Given the description of an element on the screen output the (x, y) to click on. 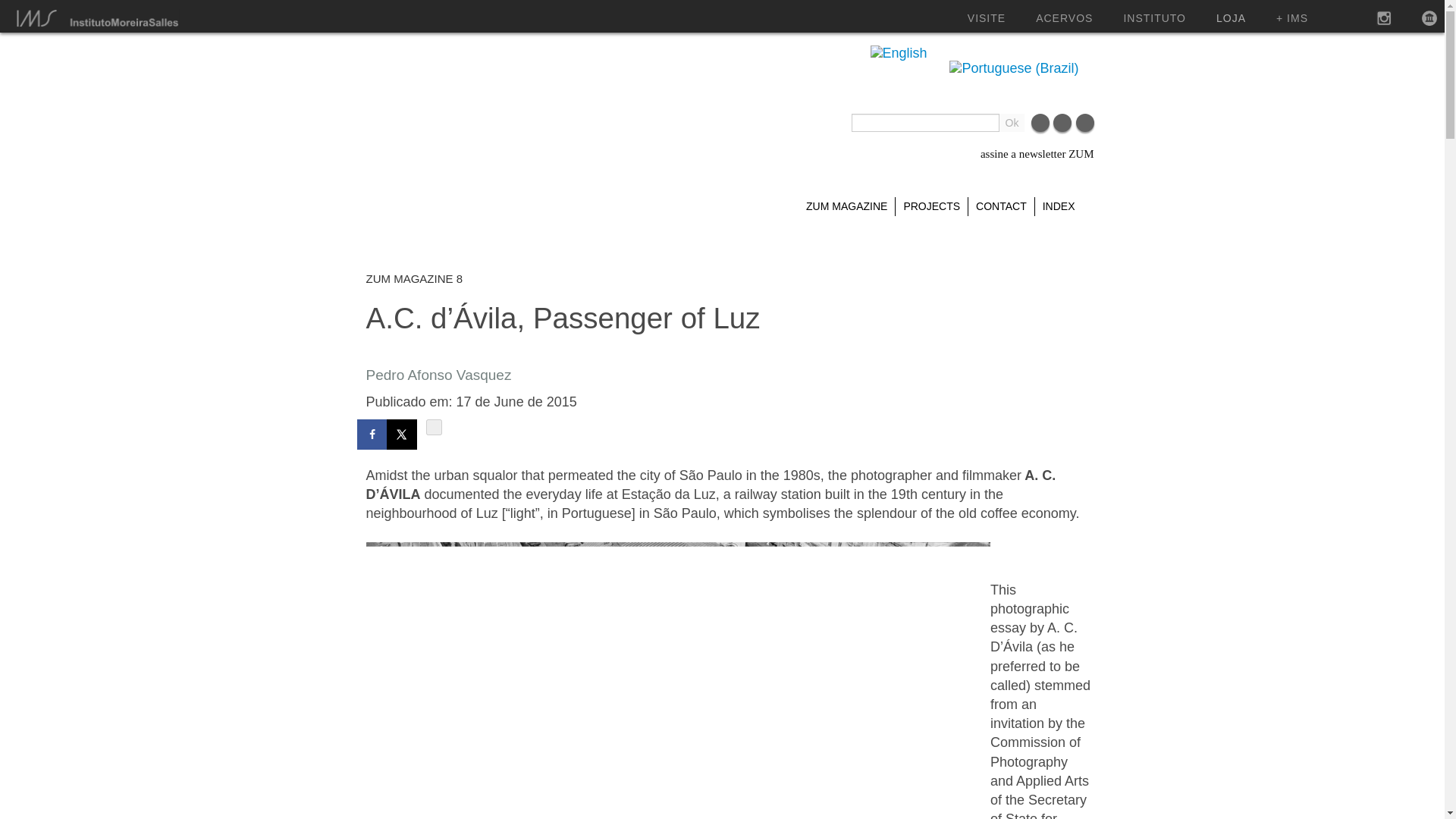
ZUM - revista de fotografia (484, 117)
Youtube (1084, 127)
INSTITUTO (1154, 18)
LOJA (1230, 18)
Facebook (1039, 127)
ZUM MAGAZINE 8 (414, 278)
ACERVOS (1064, 18)
Ok (1011, 122)
ZUM Magazine 8 (414, 278)
Instagram (1061, 127)
